Given the description of an element on the screen output the (x, y) to click on. 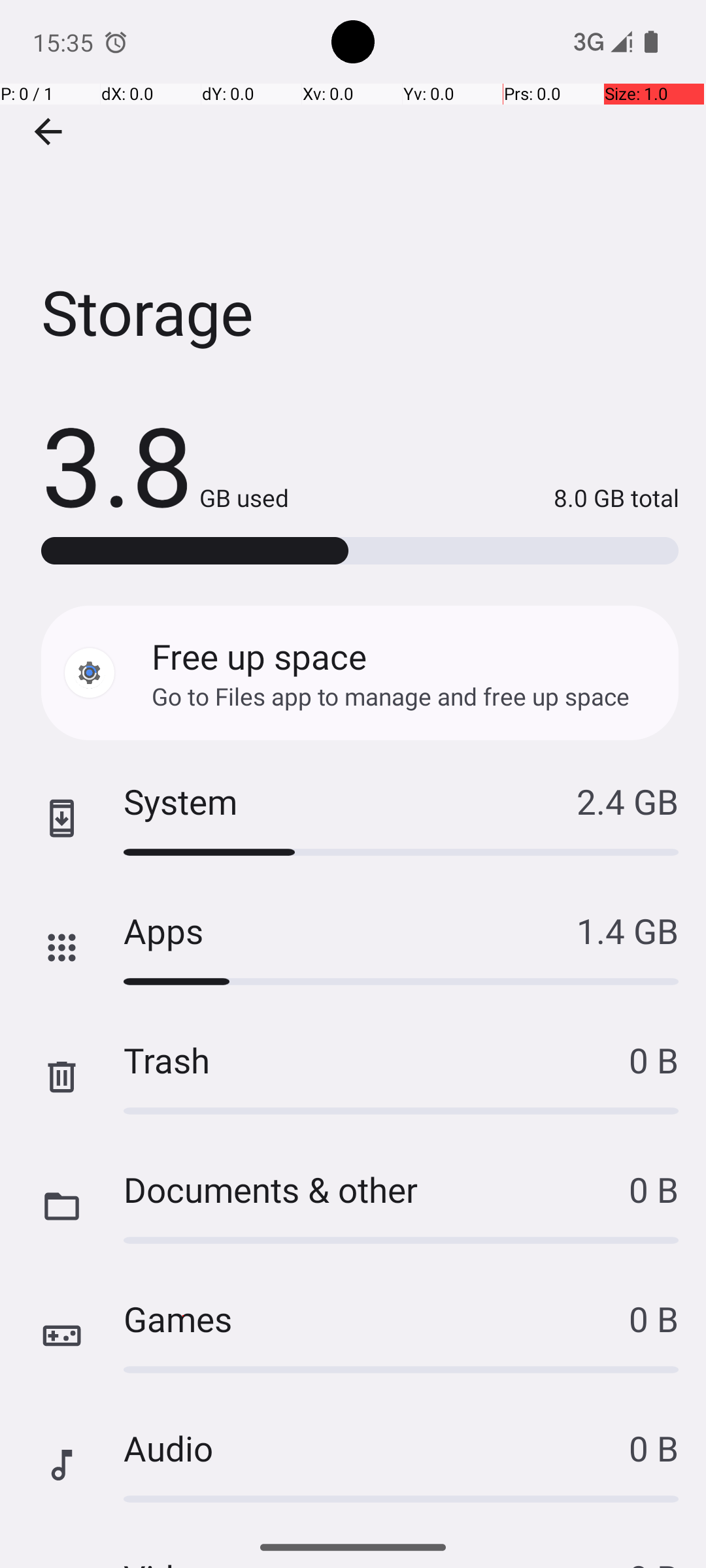
3.8 GB used Element type: android.widget.TextView (164, 463)
2.4 GB Element type: android.widget.TextView (627, 801)
1.4 GB Element type: android.widget.TextView (627, 930)
